Given the description of an element on the screen output the (x, y) to click on. 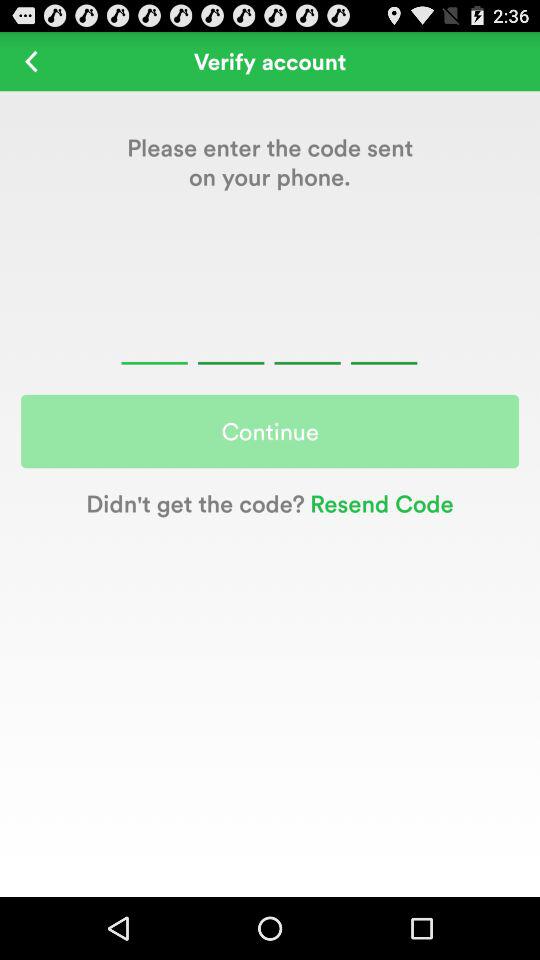
go to previous screen (31, 60)
